Given the description of an element on the screen output the (x, y) to click on. 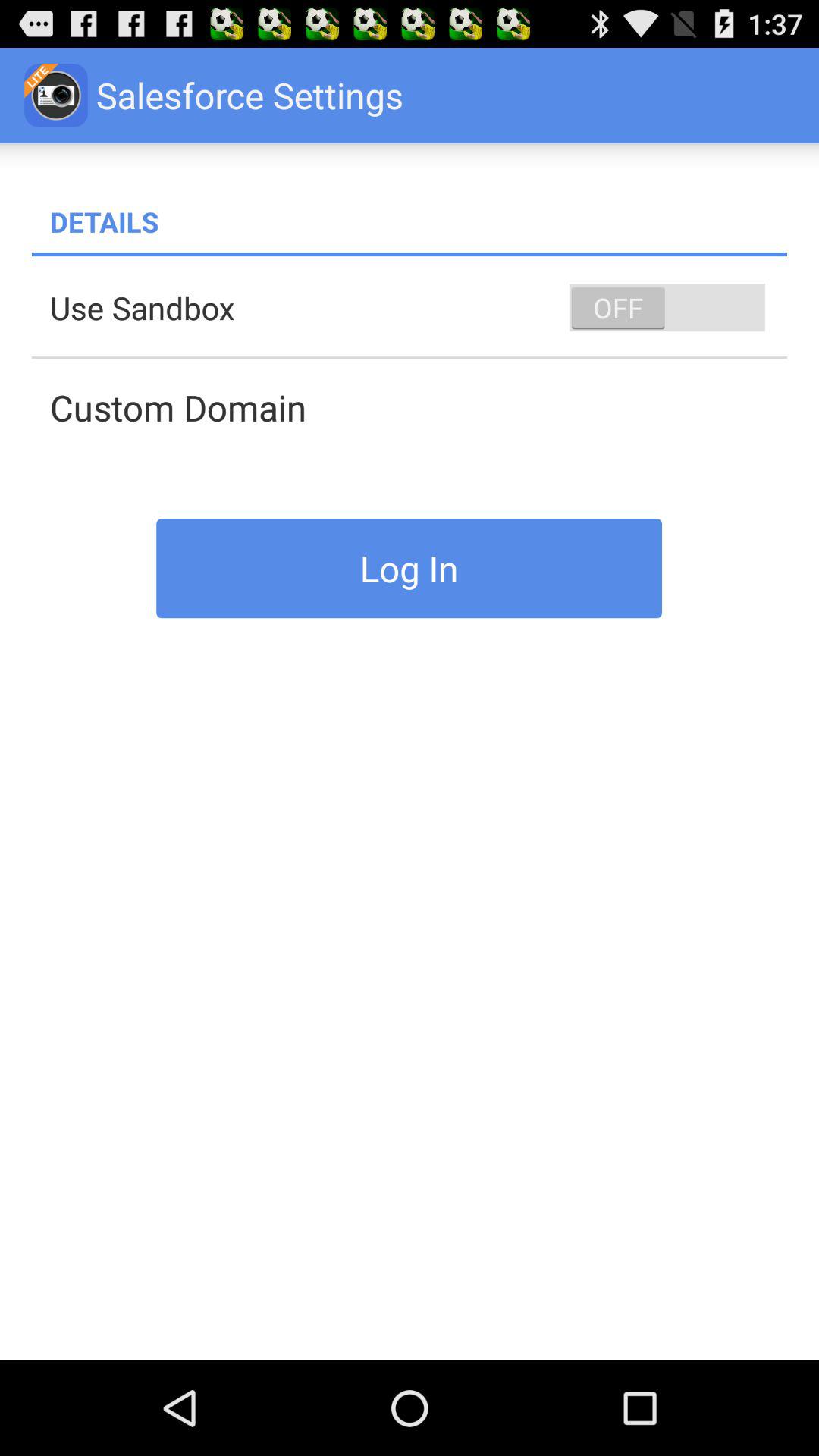
tap the button above the log in (418, 407)
